Given the description of an element on the screen output the (x, y) to click on. 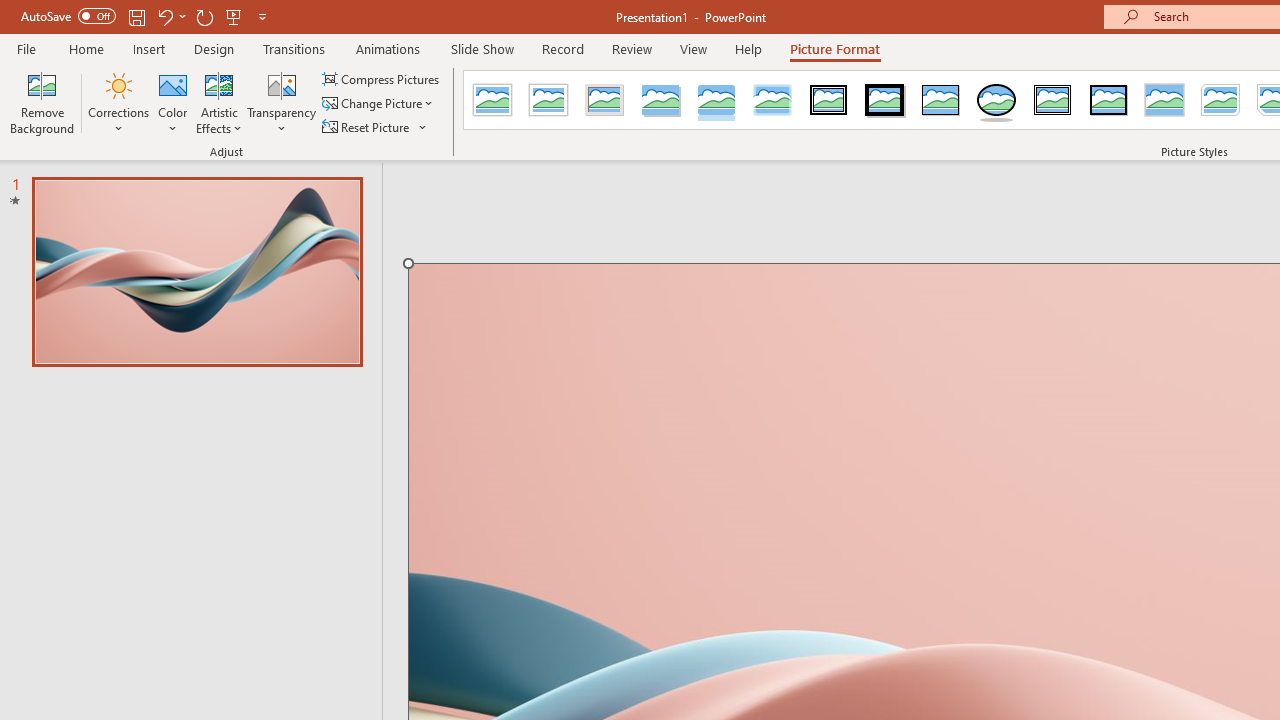
From Beginning (234, 15)
Center Shadow Rectangle (1164, 100)
Save (136, 15)
Beveled Oval, Black (996, 100)
Design (214, 48)
Corrections (118, 102)
Reset Picture (375, 126)
Animations (388, 48)
AutoSave (68, 16)
Change Picture (379, 103)
Redo (204, 15)
Slide Show (481, 48)
Insert (149, 48)
Double Frame, Black (829, 100)
